Given the description of an element on the screen output the (x, y) to click on. 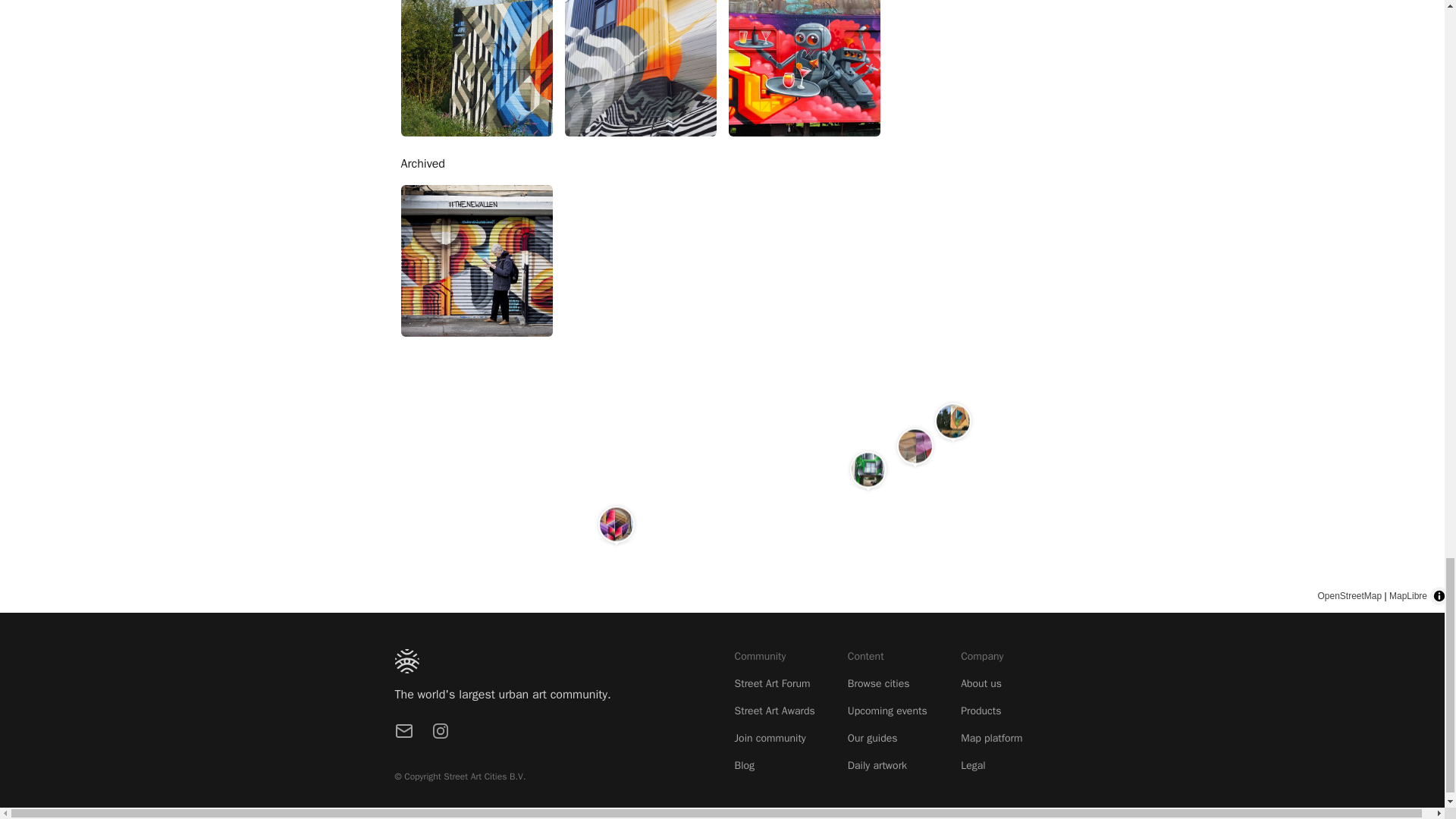
OpenStreetMap (1349, 595)
MapLibre (1407, 595)
